Given the description of an element on the screen output the (x, y) to click on. 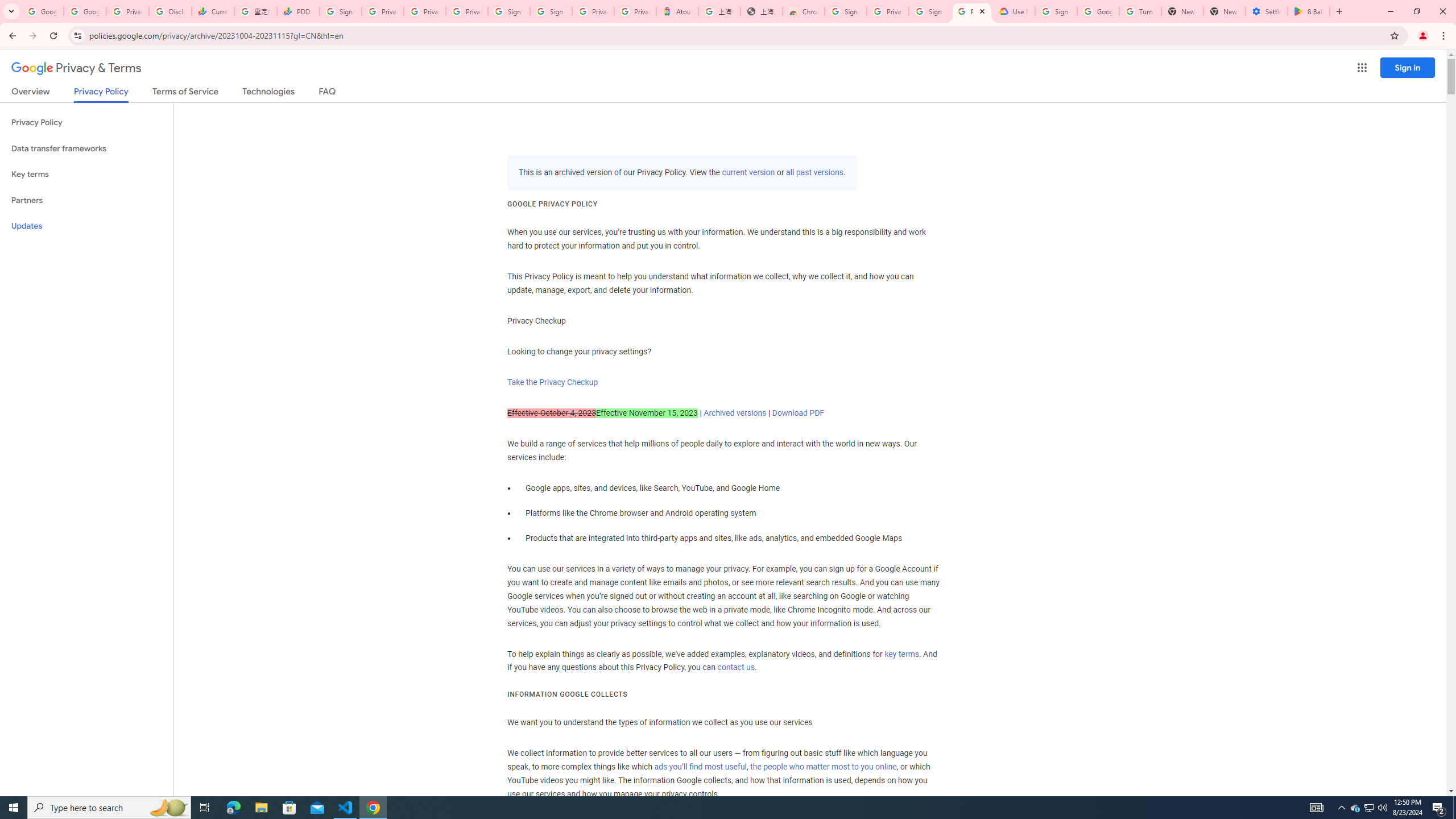
Turn cookies on or off - Computer - Google Account Help (1139, 11)
Sign in - Google Accounts (930, 11)
current version (748, 172)
the people who matter most to you online (822, 766)
8 Ball Pool - Apps on Google Play (1308, 11)
Currencies - Google Finance (212, 11)
